Given the description of an element on the screen output the (x, y) to click on. 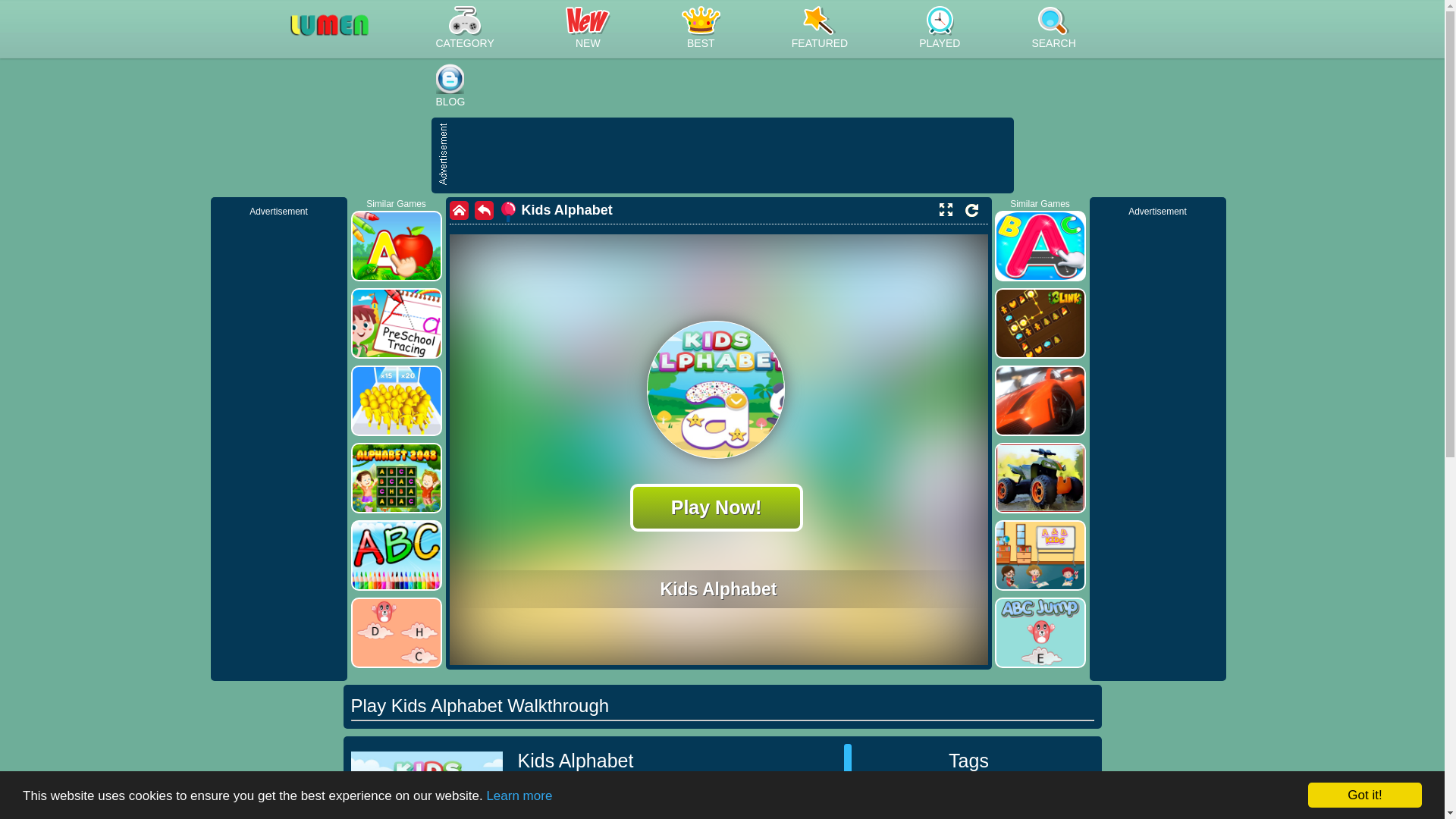
SEARCH (1053, 29)
CATEGORY (465, 29)
Baby Games (931, 799)
Kids Alphabet (555, 210)
Advertisement (729, 155)
BEST (700, 29)
FEATURED (819, 29)
Play Best Free Online Games (351, 36)
Replay this game (969, 210)
Play game fullscreen (945, 210)
PLAYED (939, 29)
BLOG (450, 87)
Baby Hazel (1008, 799)
NEW (587, 29)
